Given the description of an element on the screen output the (x, y) to click on. 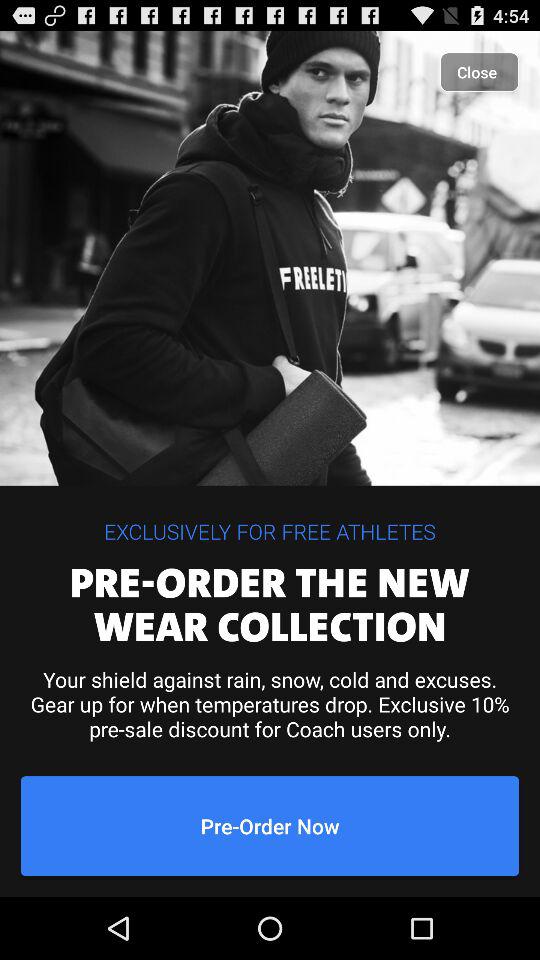
scroll to close item (479, 71)
